Given the description of an element on the screen output the (x, y) to click on. 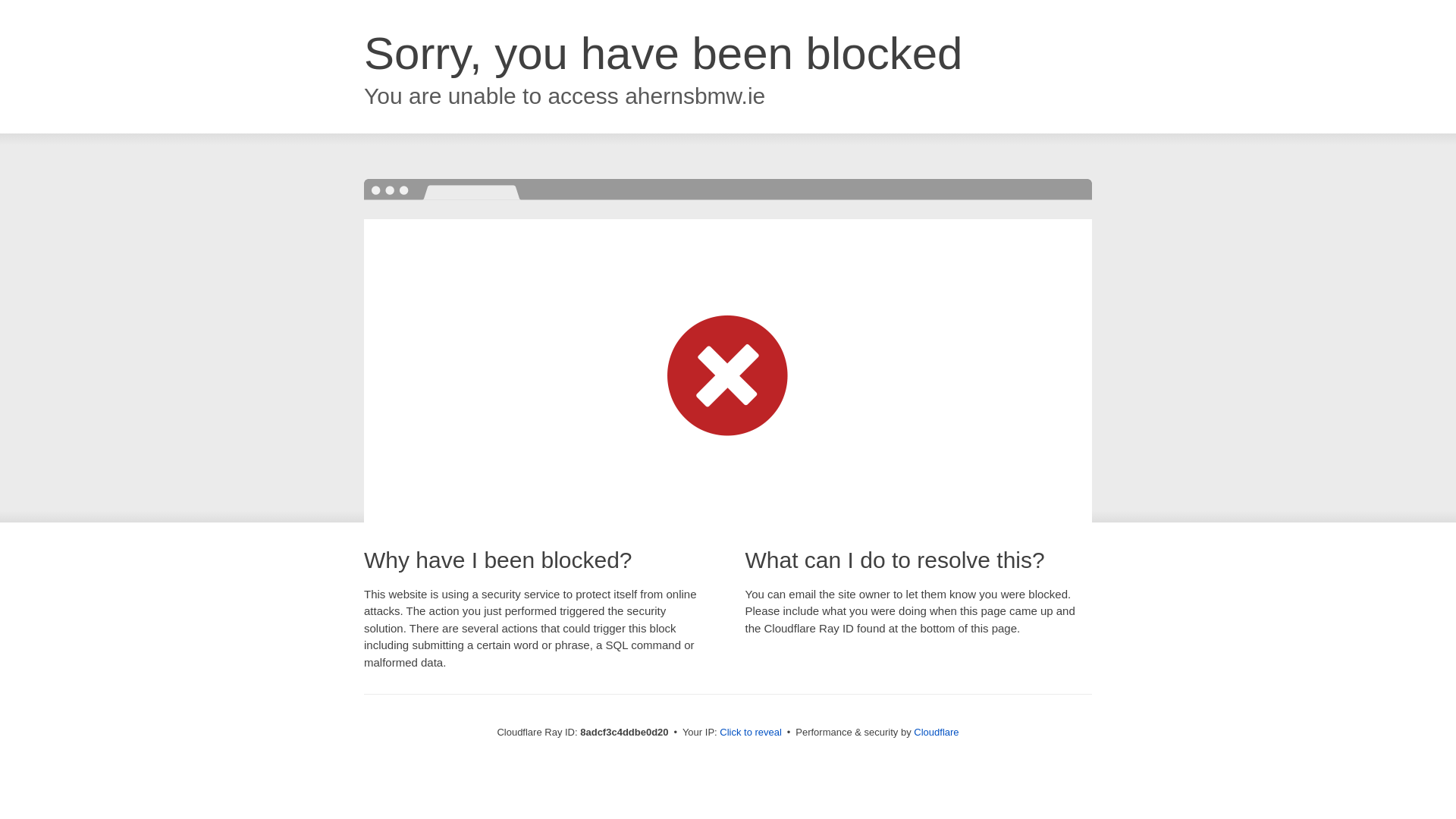
Click to reveal (750, 732)
Cloudflare (936, 731)
